Given the description of an element on the screen output the (x, y) to click on. 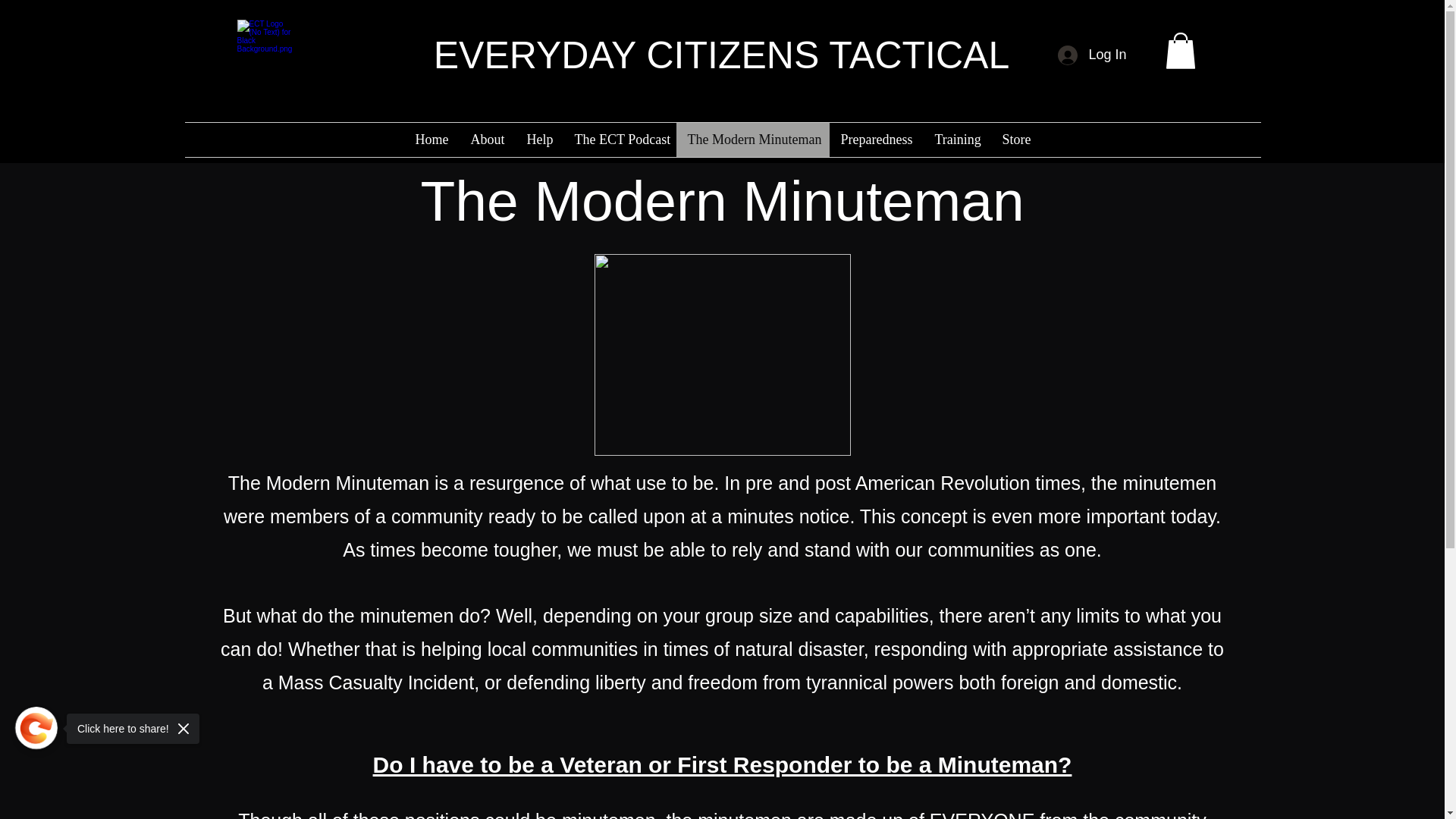
The Modern Minuteman (753, 139)
Store (1015, 139)
Log In (1091, 55)
The ECT Podcast (618, 139)
About (487, 139)
Home (430, 139)
Training (957, 139)
Preparedness (876, 139)
